Given the description of an element on the screen output the (x, y) to click on. 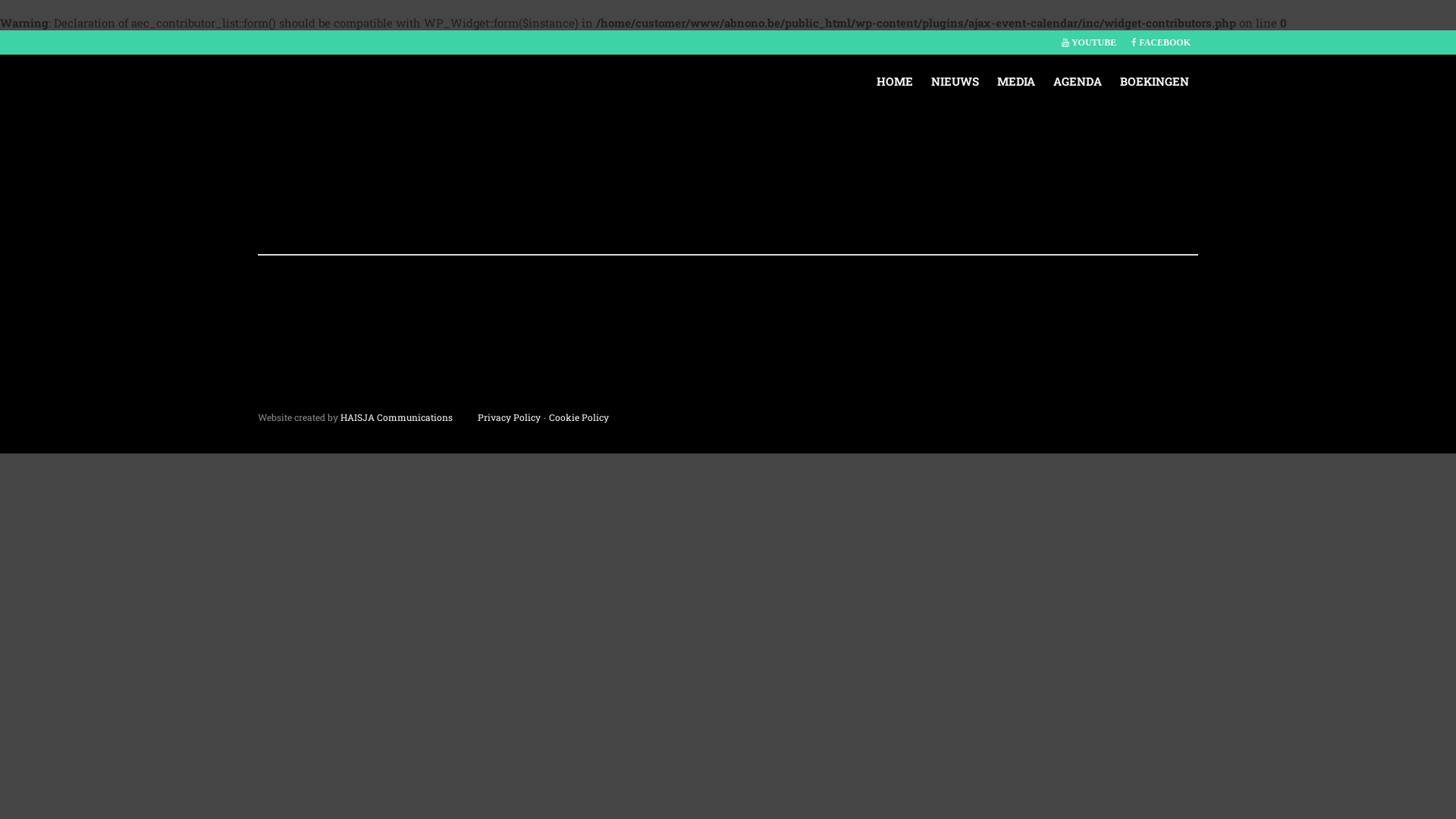
HOME Element type: text (894, 80)
HAISJA Communications Element type: text (396, 417)
MEDIA Element type: text (1015, 80)
BOEKINGEN Element type: text (1154, 80)
Privacy Policy Element type: text (508, 417)
AGENDA Element type: text (1077, 80)
NIEUWS Element type: text (954, 80)
Cookie Policy Element type: text (578, 417)
